Given the description of an element on the screen output the (x, y) to click on. 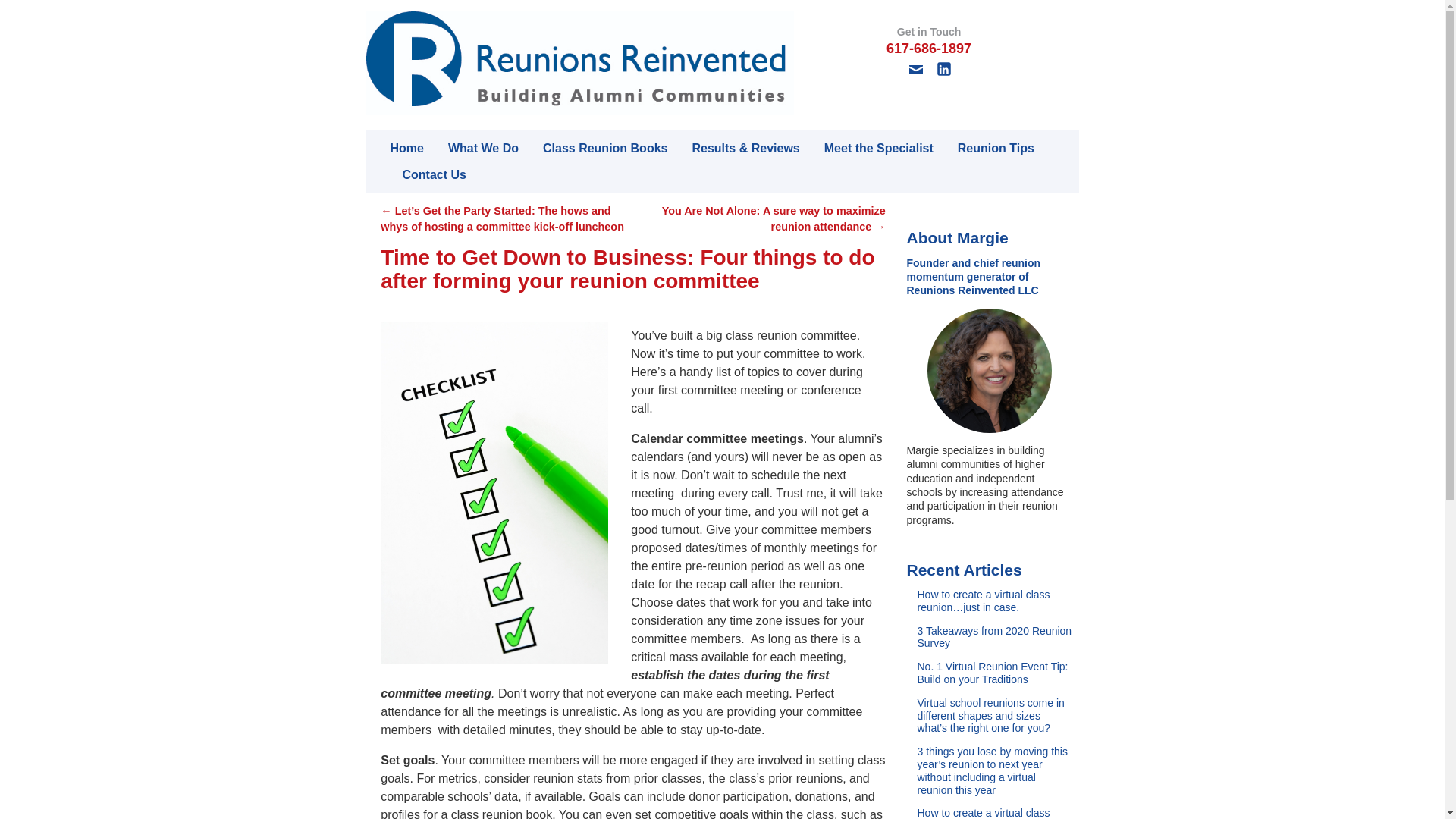
No. 1 Virtual Reunion Event Tip: Build on your Traditions (995, 678)
What We Do (470, 148)
Reunion Tips (983, 148)
Home (400, 148)
Contact Us (421, 174)
Meet the Specialist (866, 148)
3 Takeaways from 2020 Reunion Survey (995, 642)
Class Reunion Books (592, 148)
